Given the description of an element on the screen output the (x, y) to click on. 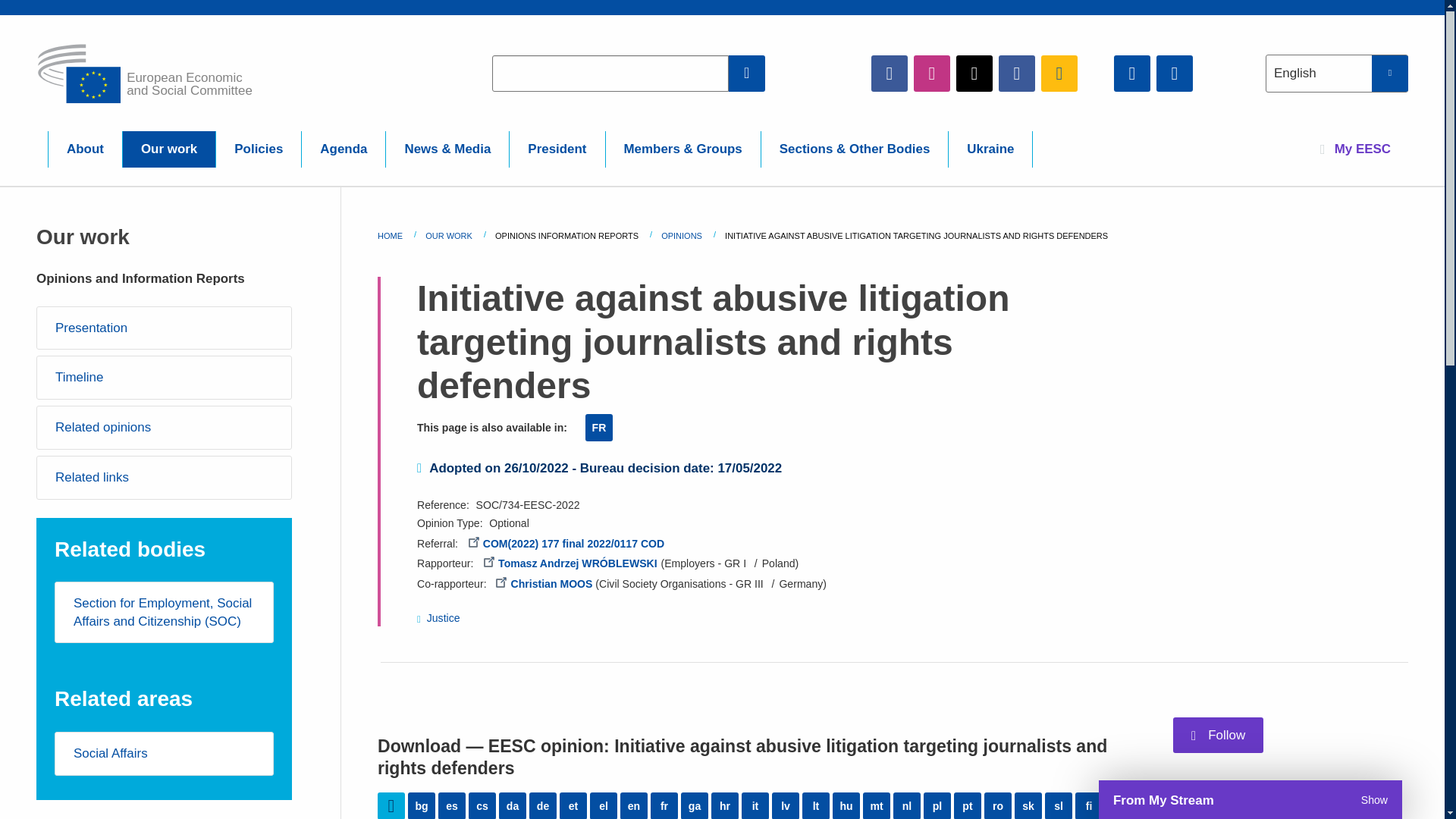
Search EESC Website (747, 72)
My EESC (1355, 149)
